Given the description of an element on the screen output the (x, y) to click on. 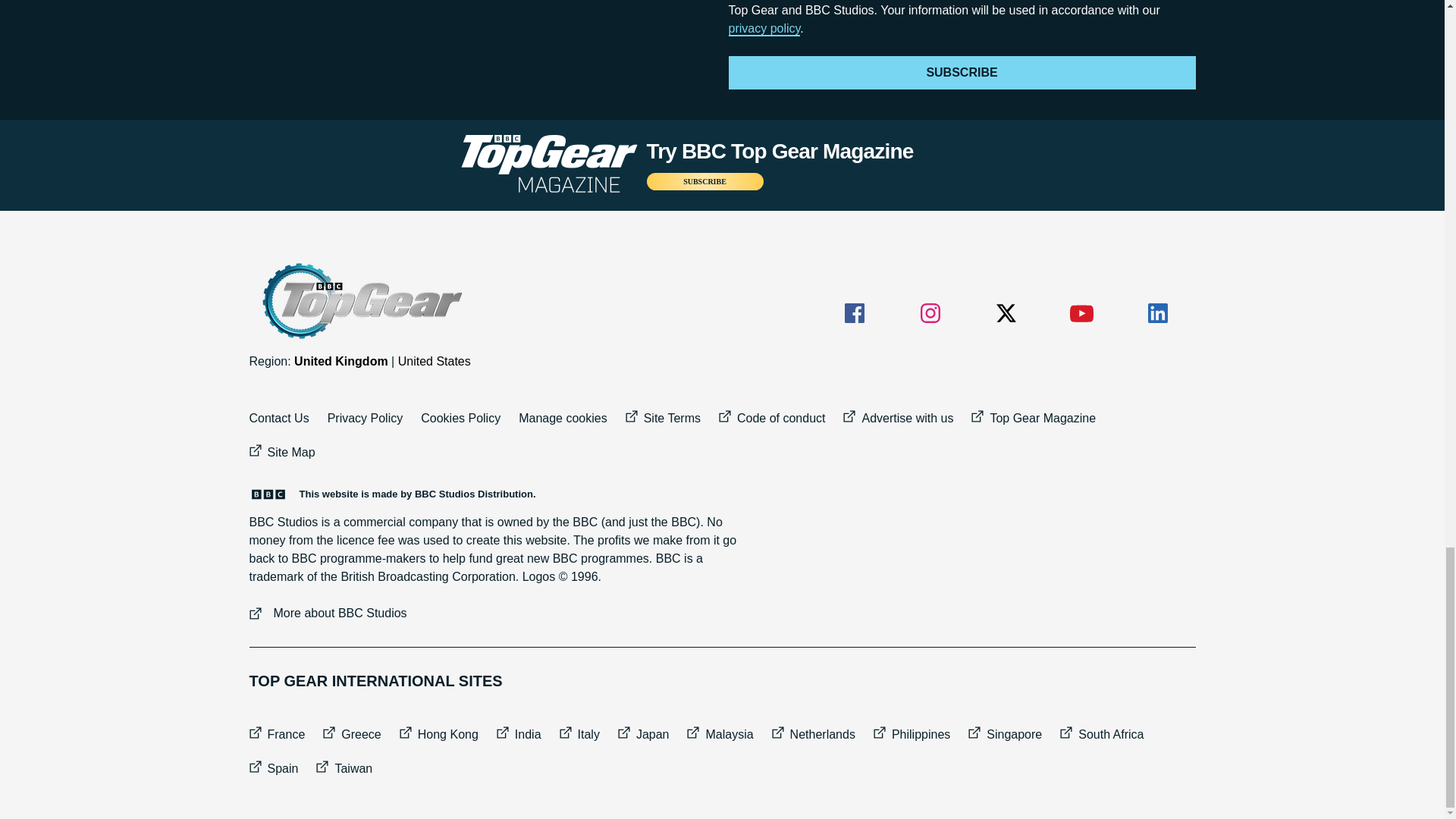
Home (359, 301)
